Given the description of an element on the screen output the (x, y) to click on. 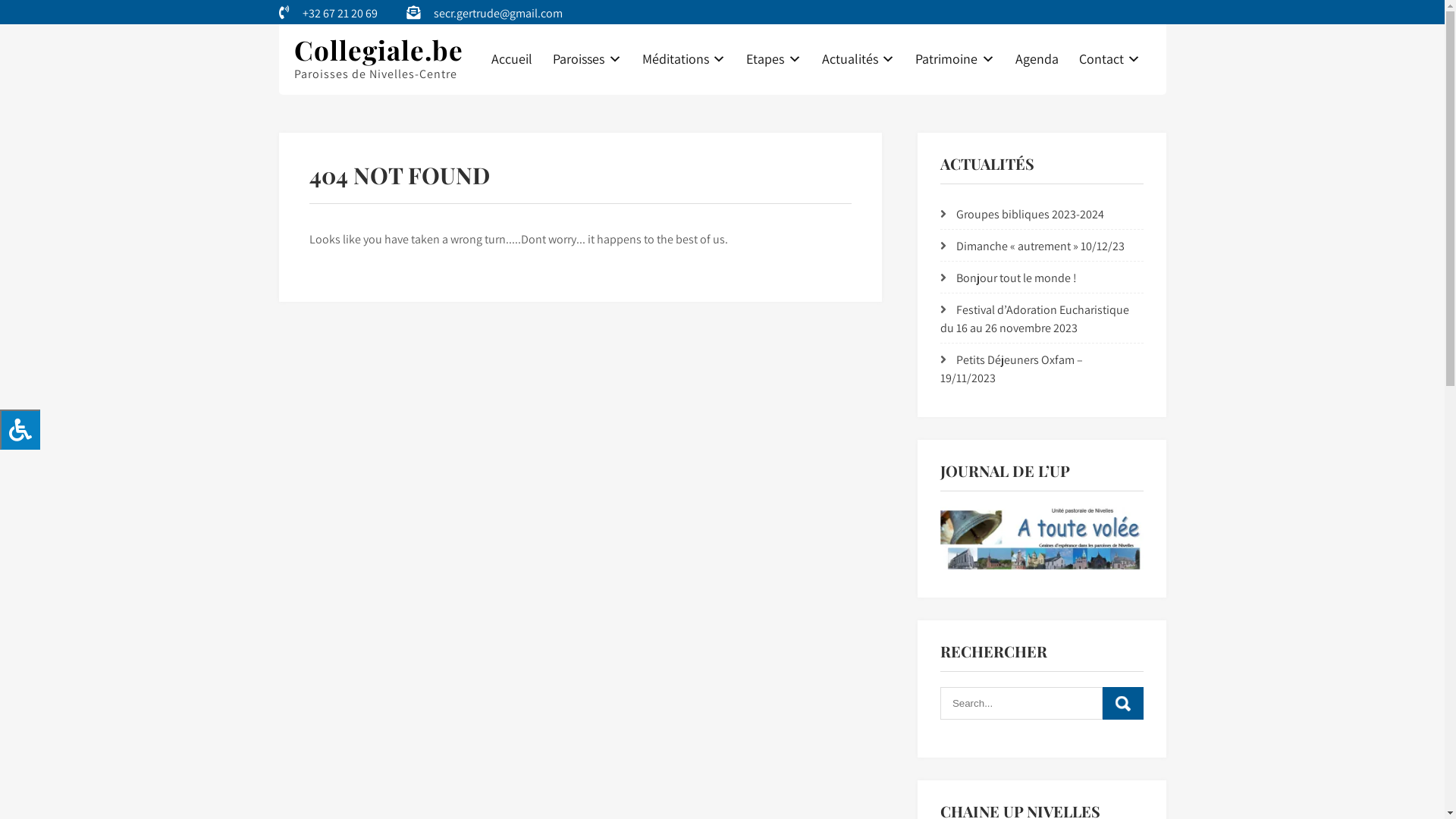
Bonjour tout le monde ! Element type: text (1016, 277)
Agenda Element type: text (1036, 58)
Journal de l'UP Element type: hover (1041, 538)
Search Element type: text (1122, 703)
Accueil Element type: text (511, 58)
Patrimoine Element type: text (955, 58)
Etapes Element type: text (773, 58)
Collegiale.be Element type: text (378, 49)
Contact Element type: text (1109, 58)
secr.gertrude@gmail.com Element type: text (497, 13)
Groupes bibliques 2023-2024 Element type: text (1030, 214)
Paroisses Element type: text (587, 58)
